Given the description of an element on the screen output the (x, y) to click on. 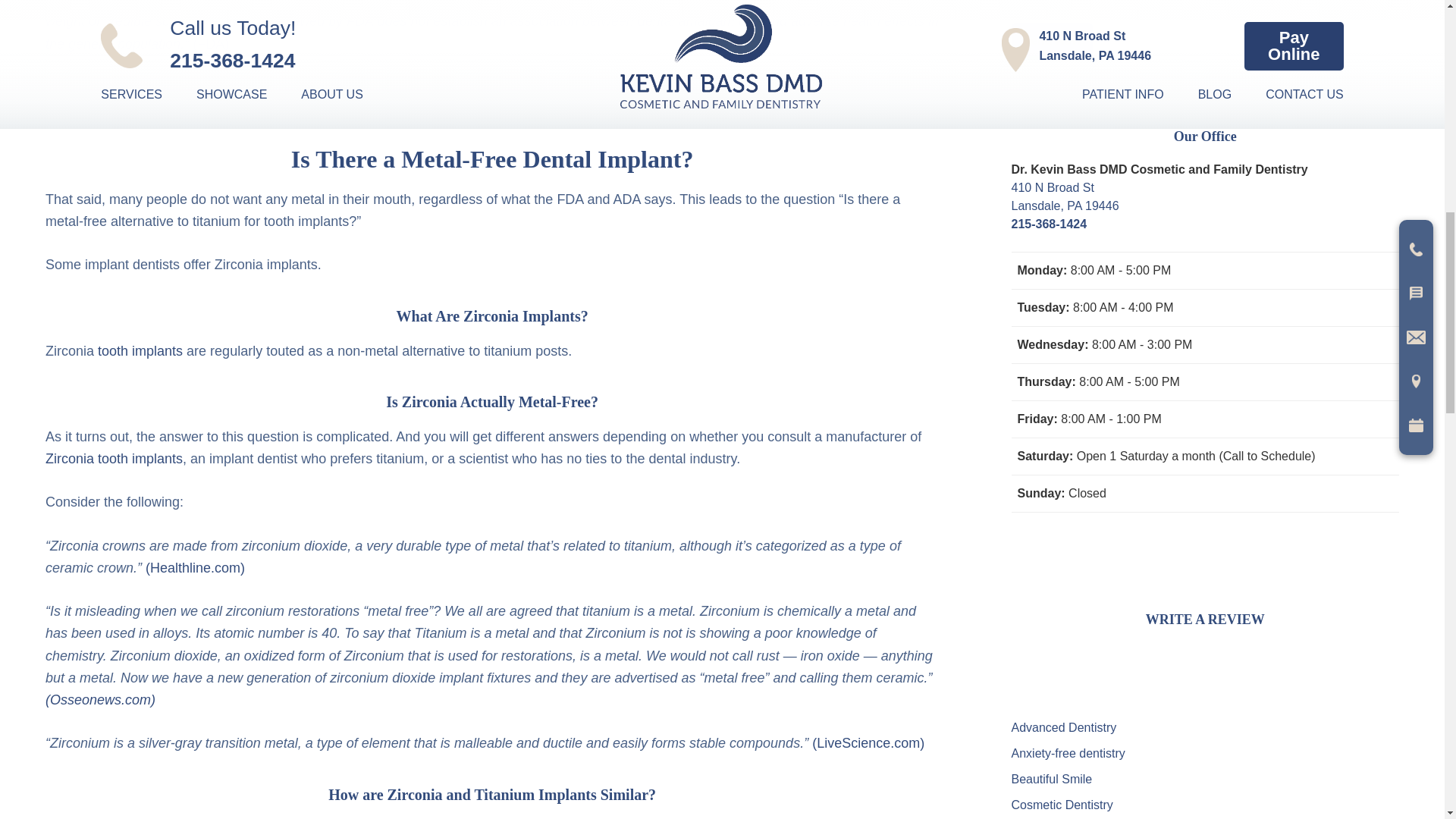
tooth implants Doylestown (100, 699)
metal-free tooth implants Quakertown (114, 458)
tooth implants Lansdale (868, 743)
zirconia tooth implants (194, 567)
Send Now (1052, 40)
